Given the description of an element on the screen output the (x, y) to click on. 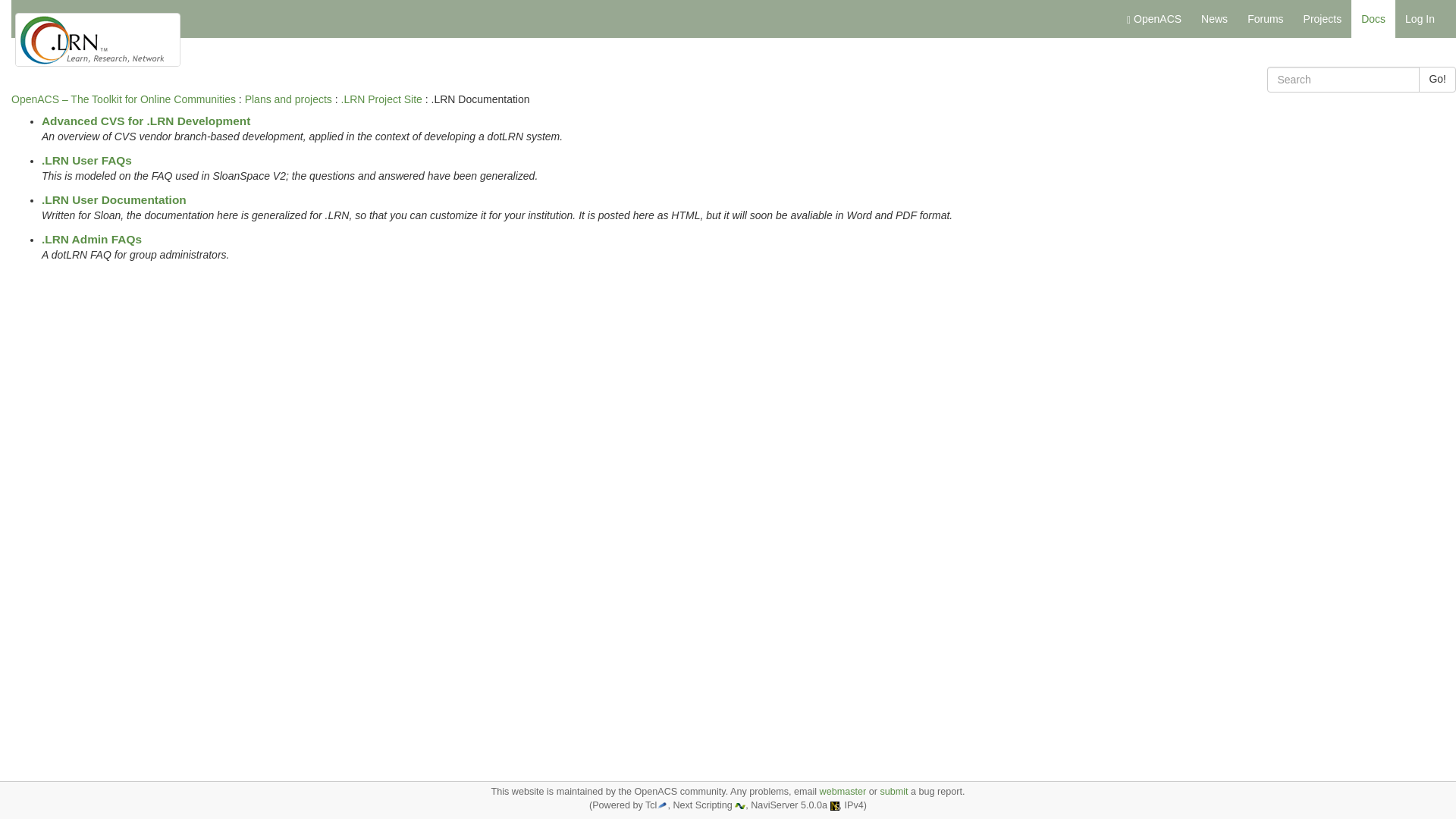
Projects (1323, 18)
Docs (1372, 18)
.LRN Project Site (381, 99)
News (1214, 18)
Forums (1264, 18)
Forums (1264, 18)
Projects (1323, 18)
News (1214, 18)
OpenACS (1153, 18)
Log In (1419, 18)
Enter keywords to search for (1342, 79)
Advanced CVS for .LRN Development (146, 120)
Docs (1372, 18)
OpenACS (1153, 18)
.LRN User FAQs (87, 160)
